Given the description of an element on the screen output the (x, y) to click on. 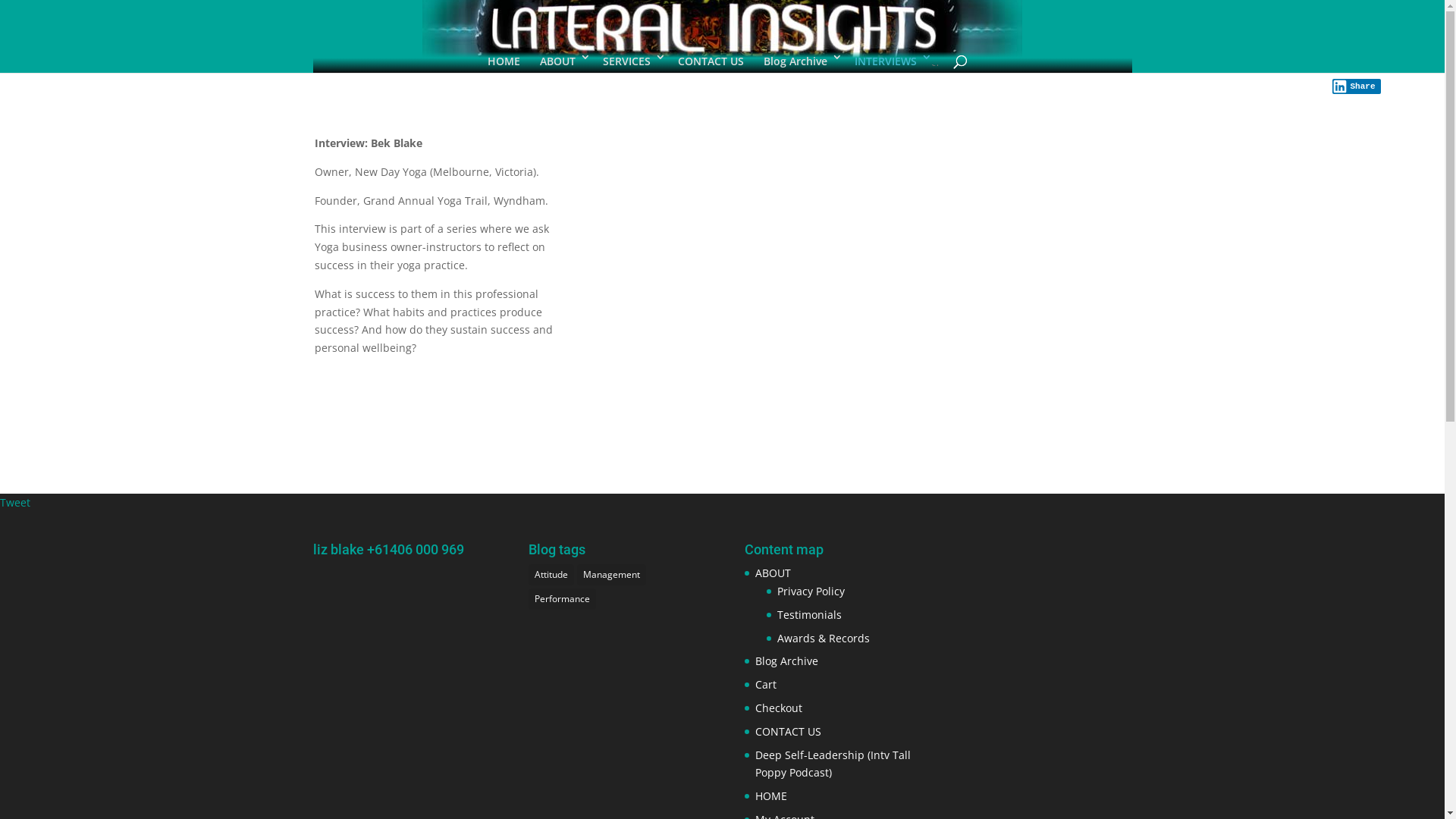
Cart Element type: text (765, 684)
Management Element type: text (611, 574)
Awards & Records Element type: text (823, 637)
Search for: Element type: hover (935, 64)
Attitude Element type: text (551, 574)
Checkout Element type: text (778, 707)
Privacy Policy Element type: text (810, 590)
Blog Archive Element type: text (798, 61)
Testimonials Element type: text (809, 614)
HOME Element type: text (503, 61)
Share Element type: text (1356, 86)
ABOUT Element type: text (561, 61)
SERVICES Element type: text (629, 61)
Blog Archive Element type: text (786, 660)
Deep Self-Leadership (Intv Tall Poppy Podcast) Element type: text (832, 763)
CONTACT US Element type: text (788, 731)
INTERVIEWS Element type: text (888, 61)
ABOUT Element type: text (772, 572)
Performance Element type: text (562, 598)
CONTACT US Element type: text (710, 61)
Tweet Element type: text (15, 502)
HOME Element type: text (771, 795)
